Given the description of an element on the screen output the (x, y) to click on. 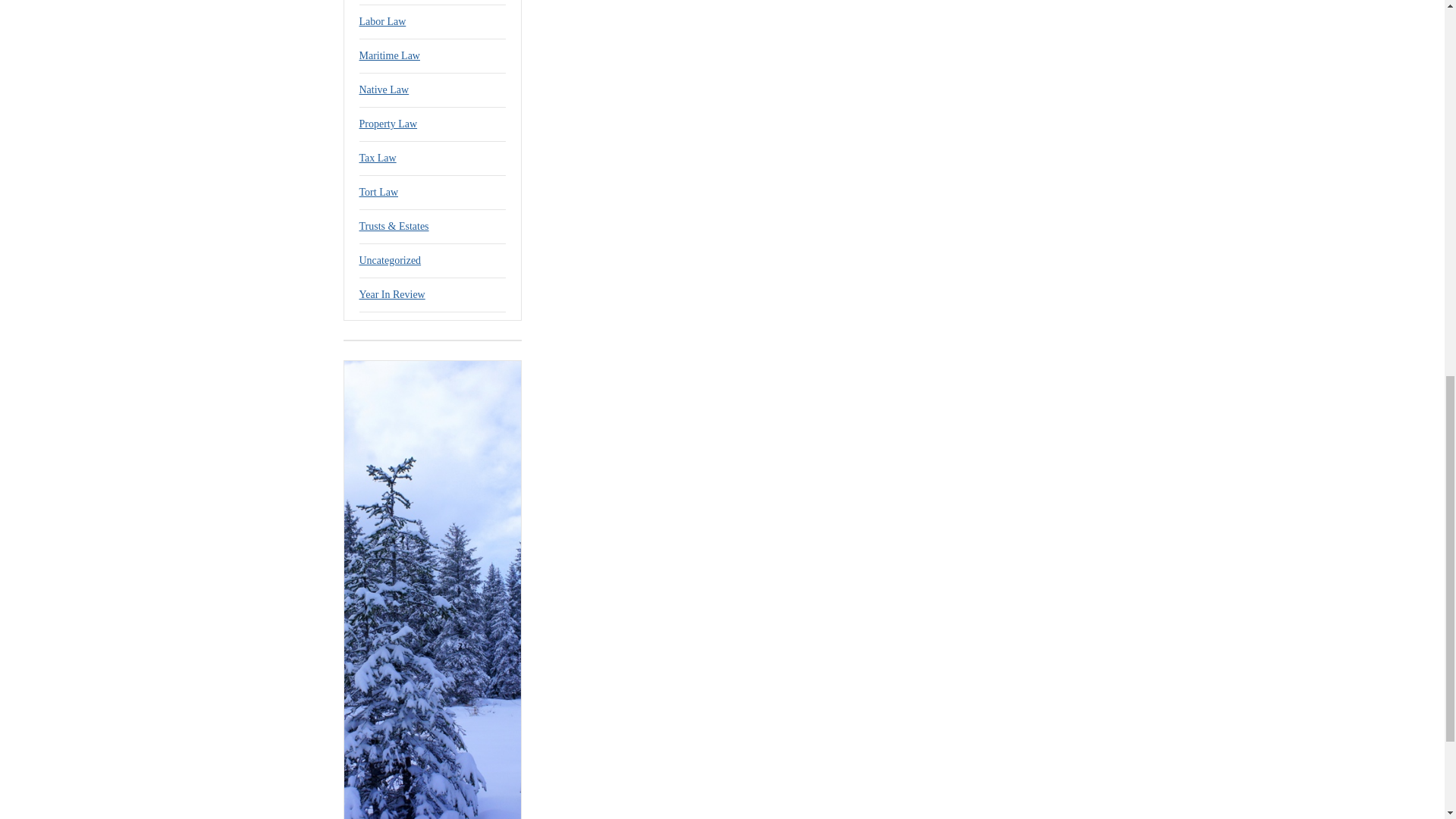
Labor Law (382, 21)
Native Law (384, 89)
Maritime Law (389, 55)
